Given the description of an element on the screen output the (x, y) to click on. 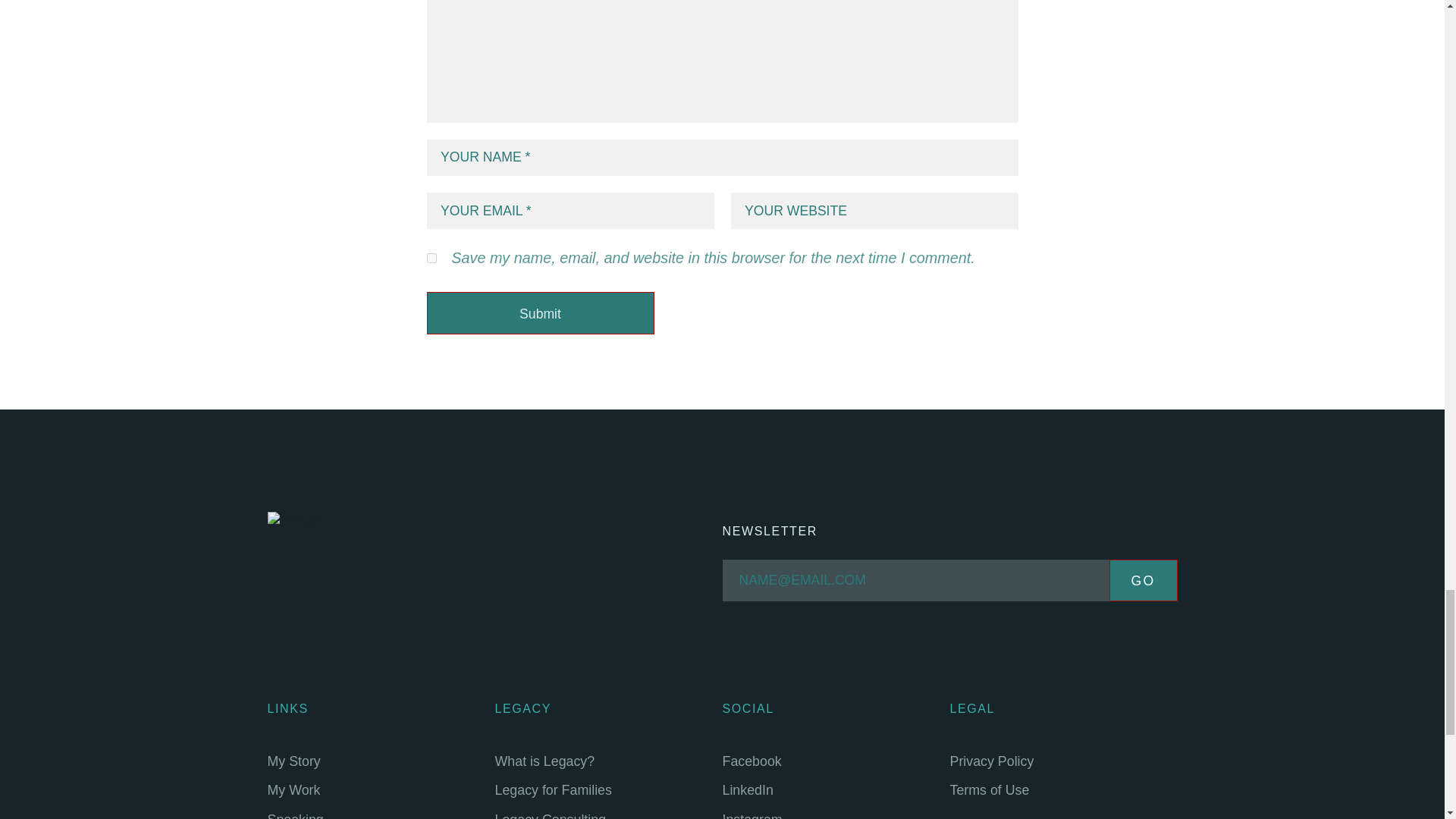
Submit (539, 312)
yes (430, 257)
